Given the description of an element on the screen output the (x, y) to click on. 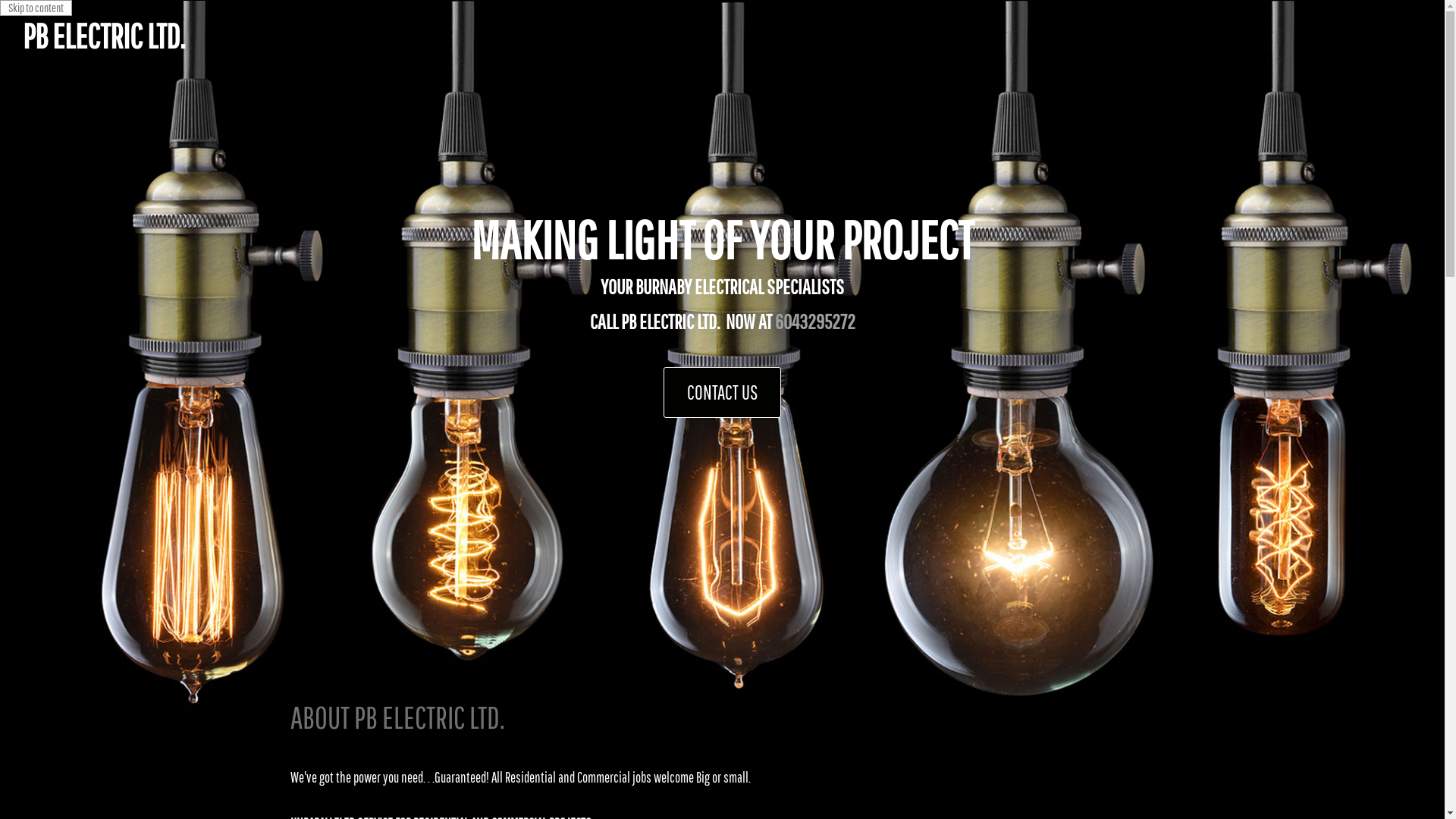
6043295272 Element type: text (815, 320)
CONTACT US Element type: text (722, 392)
